Given the description of an element on the screen output the (x, y) to click on. 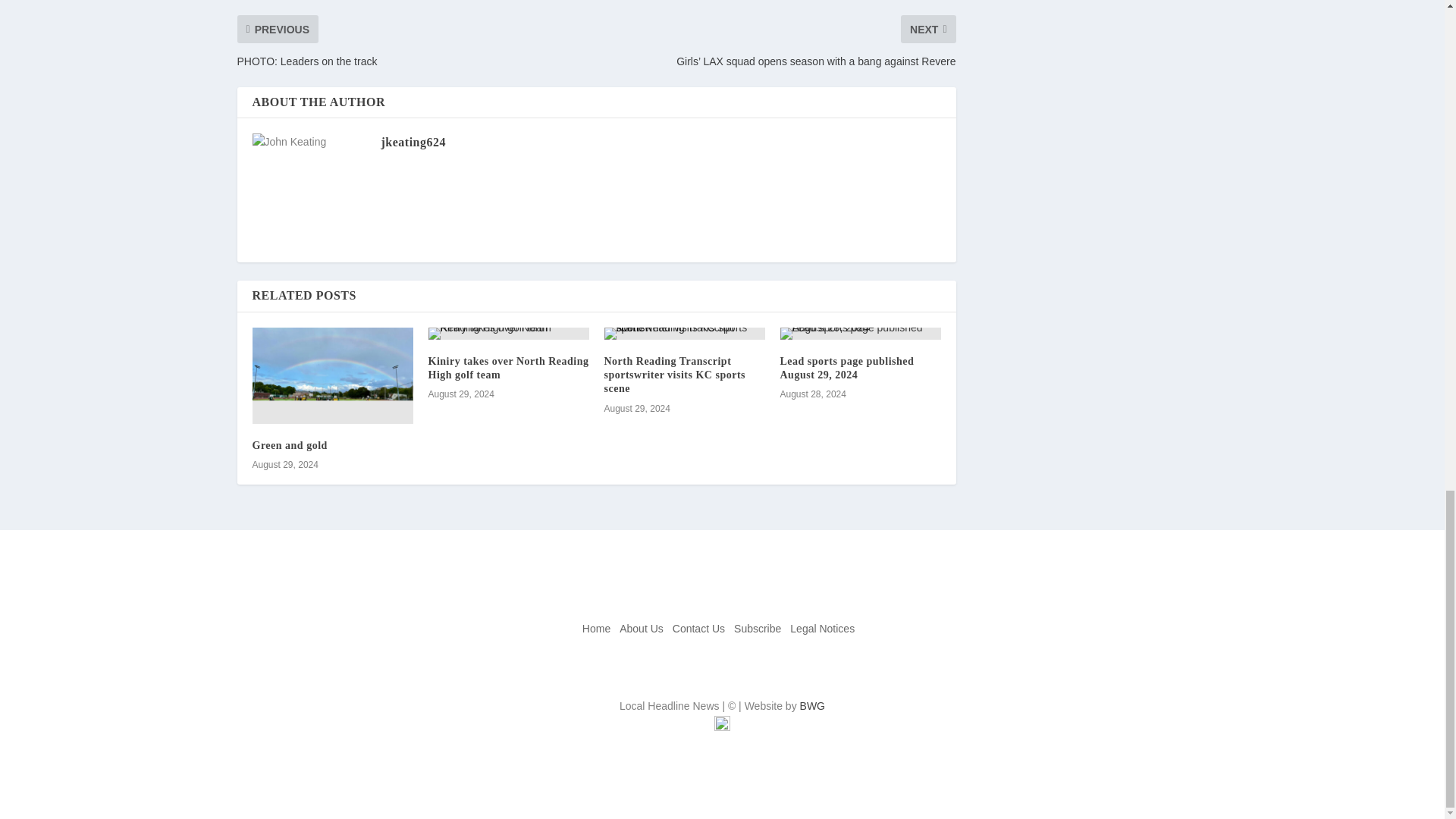
Kiniry takes over North Reading High golf team (508, 367)
North Reading Transcript sportswriter visits KC sports scene (674, 374)
Lead sports page published August 29, 2024 (846, 367)
Green and gold (288, 445)
jkeating624 (412, 141)
